Given the description of an element on the screen output the (x, y) to click on. 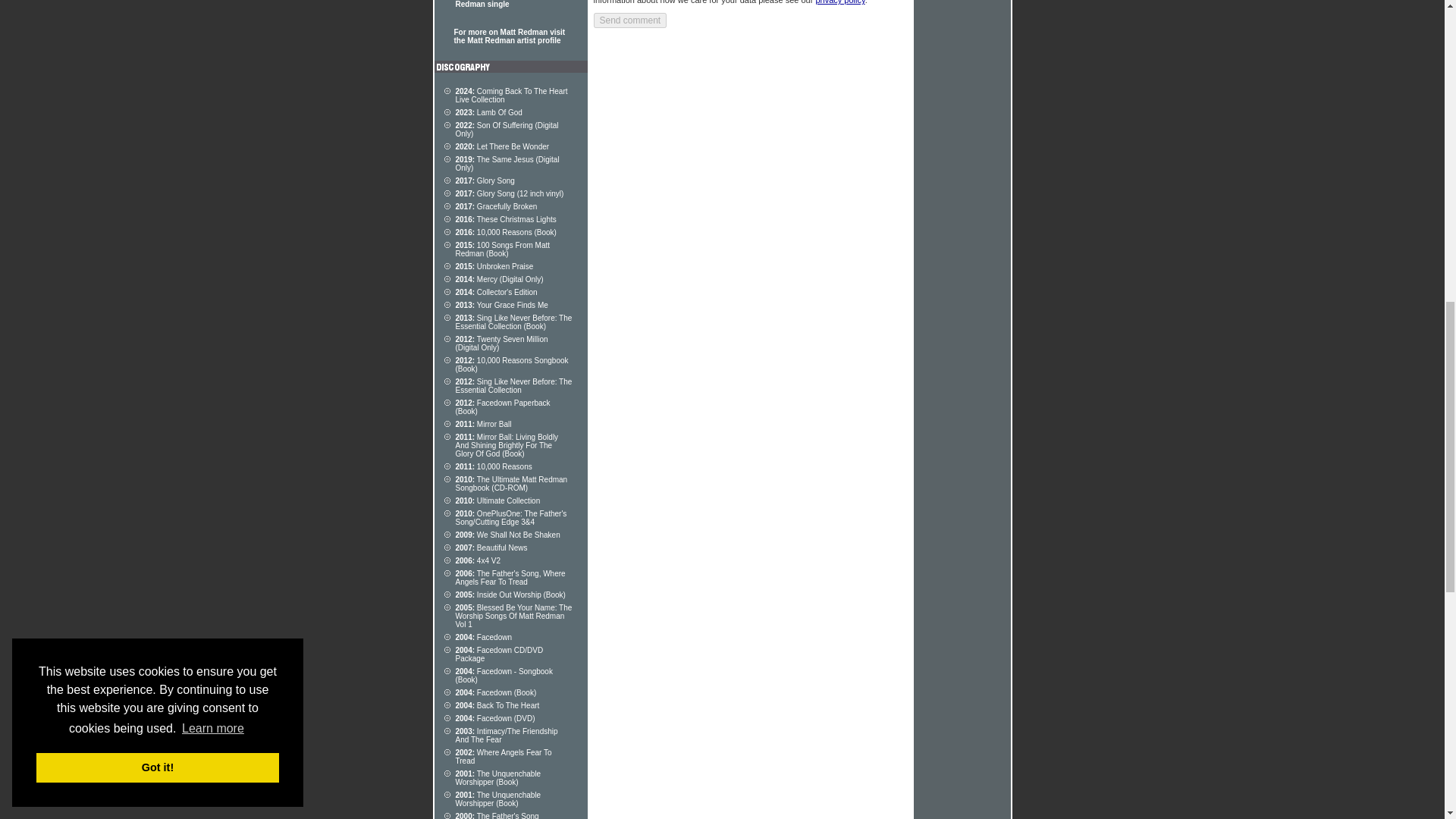
Send comment (629, 20)
